Given the description of an element on the screen output the (x, y) to click on. 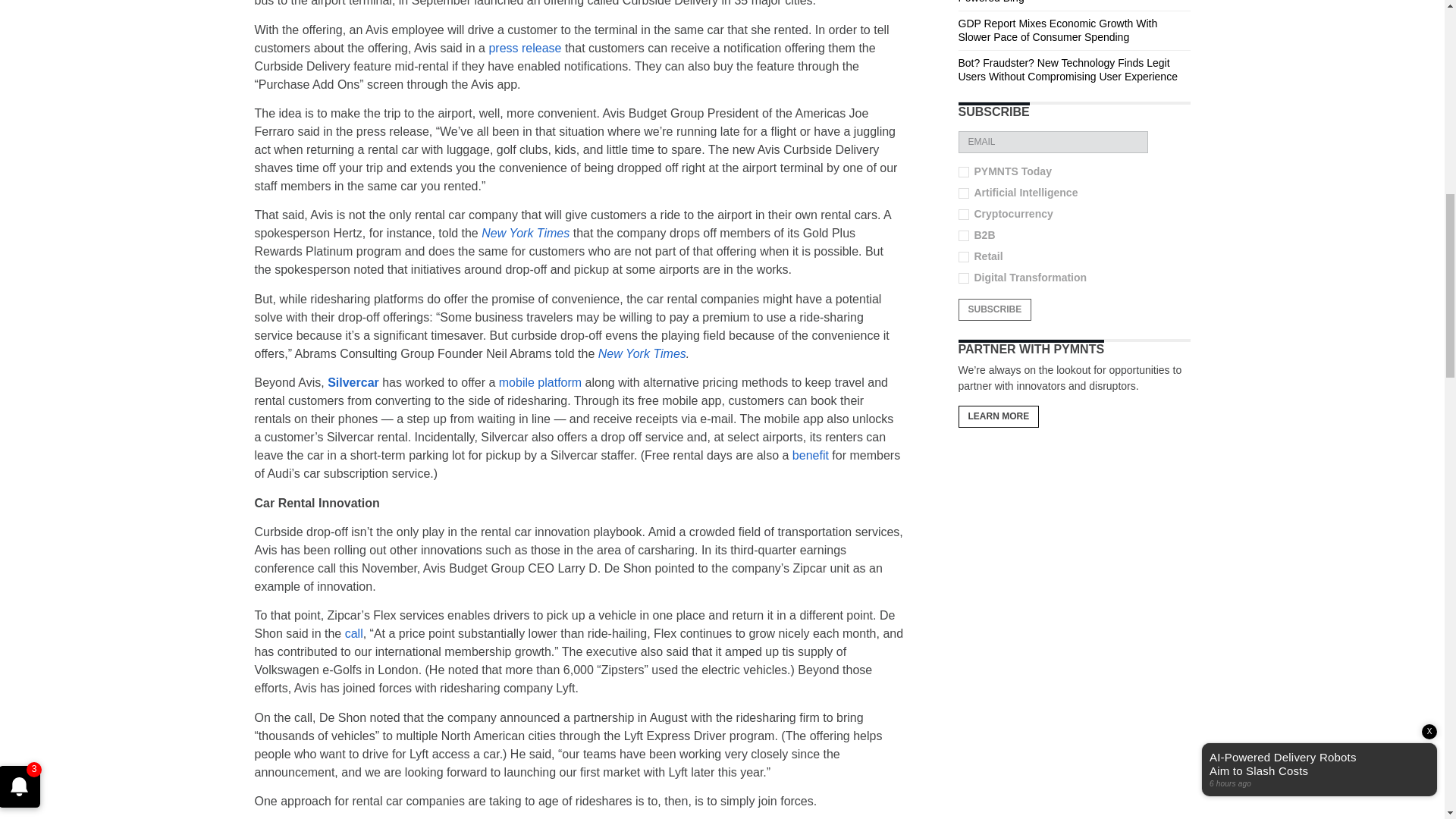
1 (963, 214)
1 (963, 277)
1 (963, 256)
1 (963, 193)
1 (963, 172)
1 (963, 235)
